Given the description of an element on the screen output the (x, y) to click on. 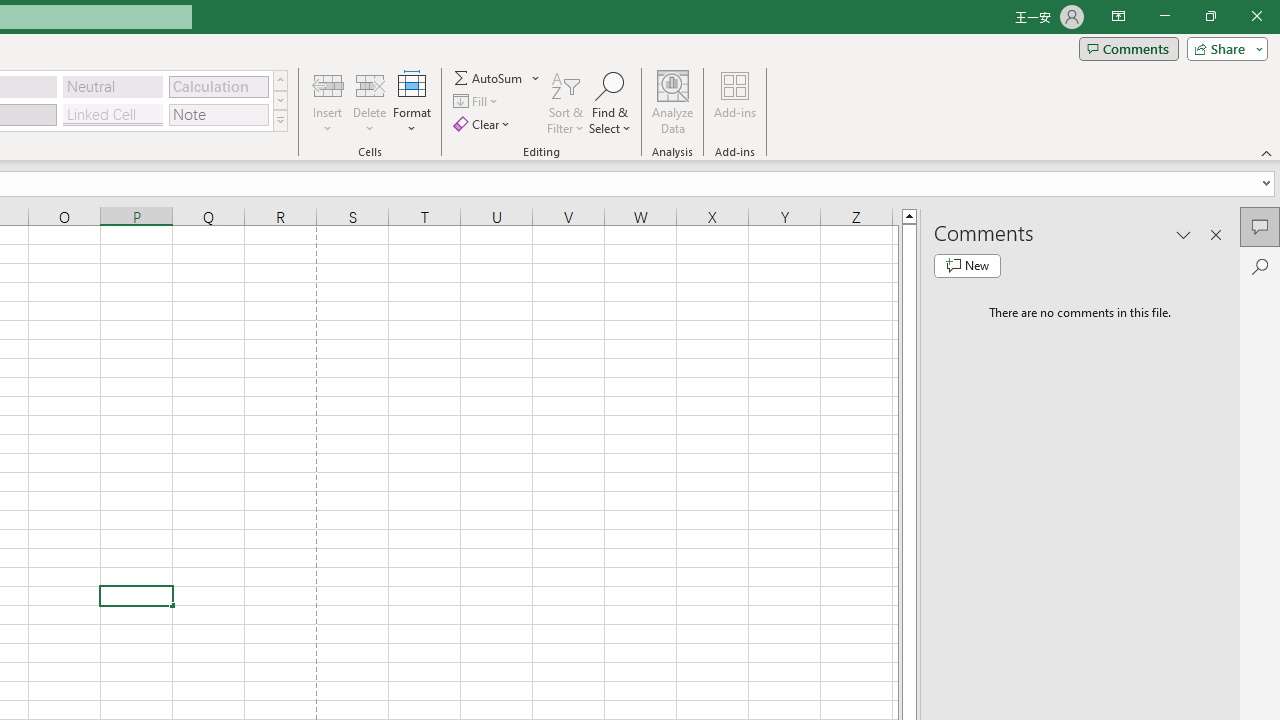
Note (218, 114)
Fill (477, 101)
Search (1260, 266)
New comment (967, 265)
Comments (1260, 226)
